Given the description of an element on the screen output the (x, y) to click on. 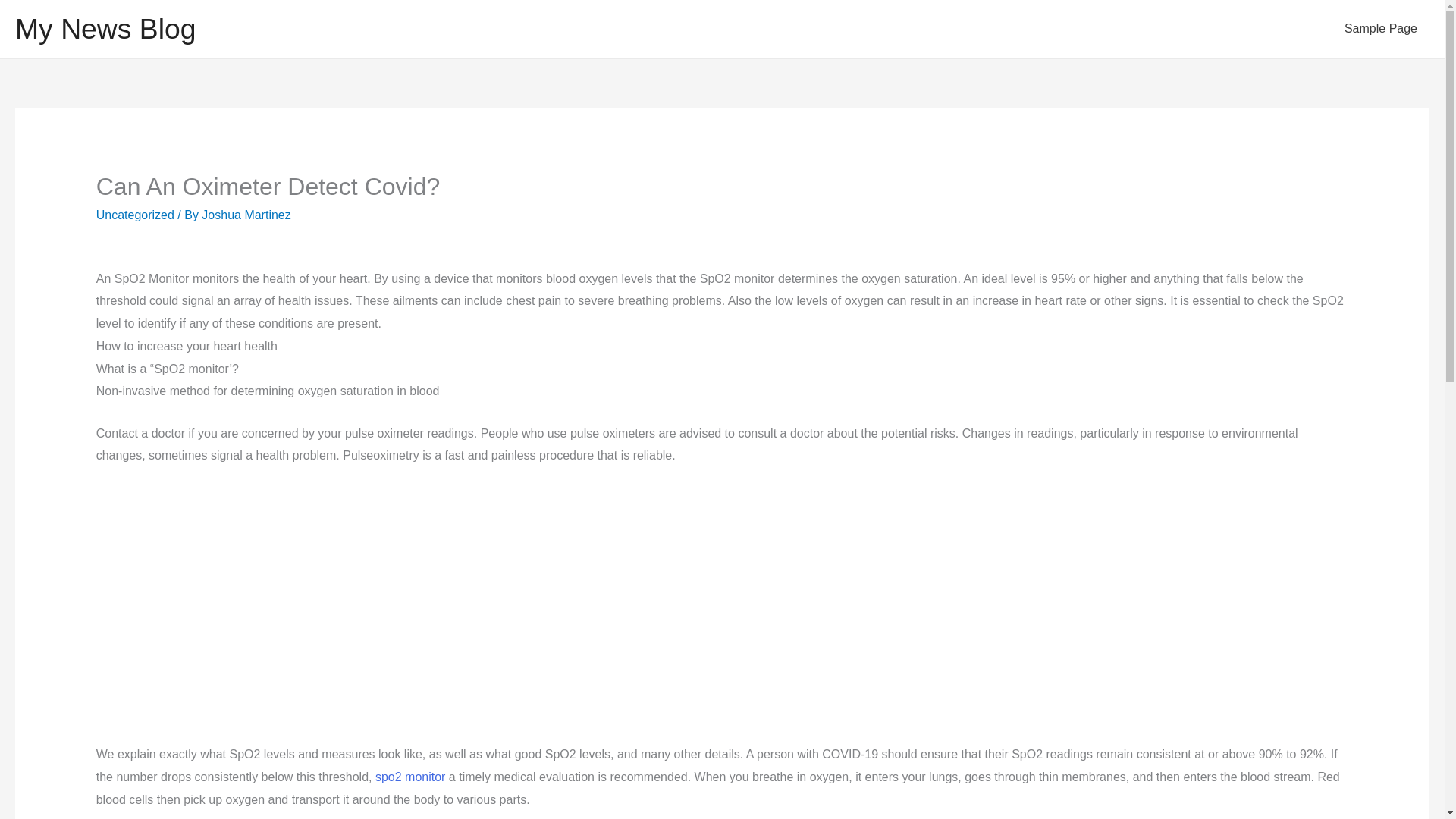
spo2 monitor (410, 776)
Joshua Martinez (245, 214)
View all posts by Joshua Martinez (245, 214)
My News Blog (105, 29)
Sample Page (1380, 29)
Uncategorized (135, 214)
